Given the description of an element on the screen output the (x, y) to click on. 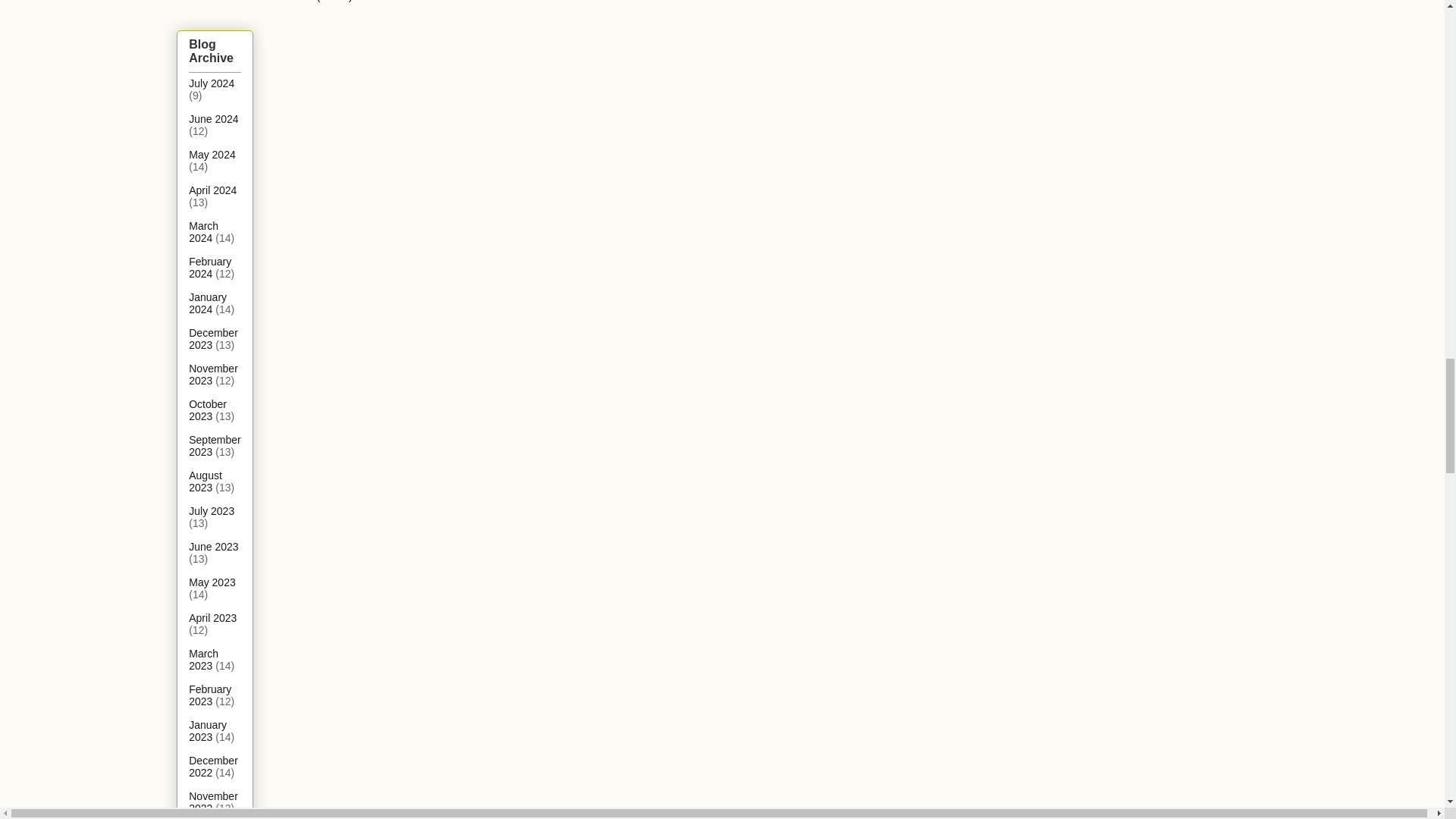
March 2024 (203, 232)
April 2023 (212, 617)
March 2023 (203, 659)
November 2023 (213, 374)
July 2023 (211, 510)
October 2023 (208, 410)
June 2024 (213, 119)
July 2024 (211, 82)
August 2023 (205, 481)
June 2023 (213, 546)
February 2023 (210, 695)
April 2024 (212, 190)
May 2023 (211, 582)
January 2023 (208, 730)
September 2023 (214, 445)
